Given the description of an element on the screen output the (x, y) to click on. 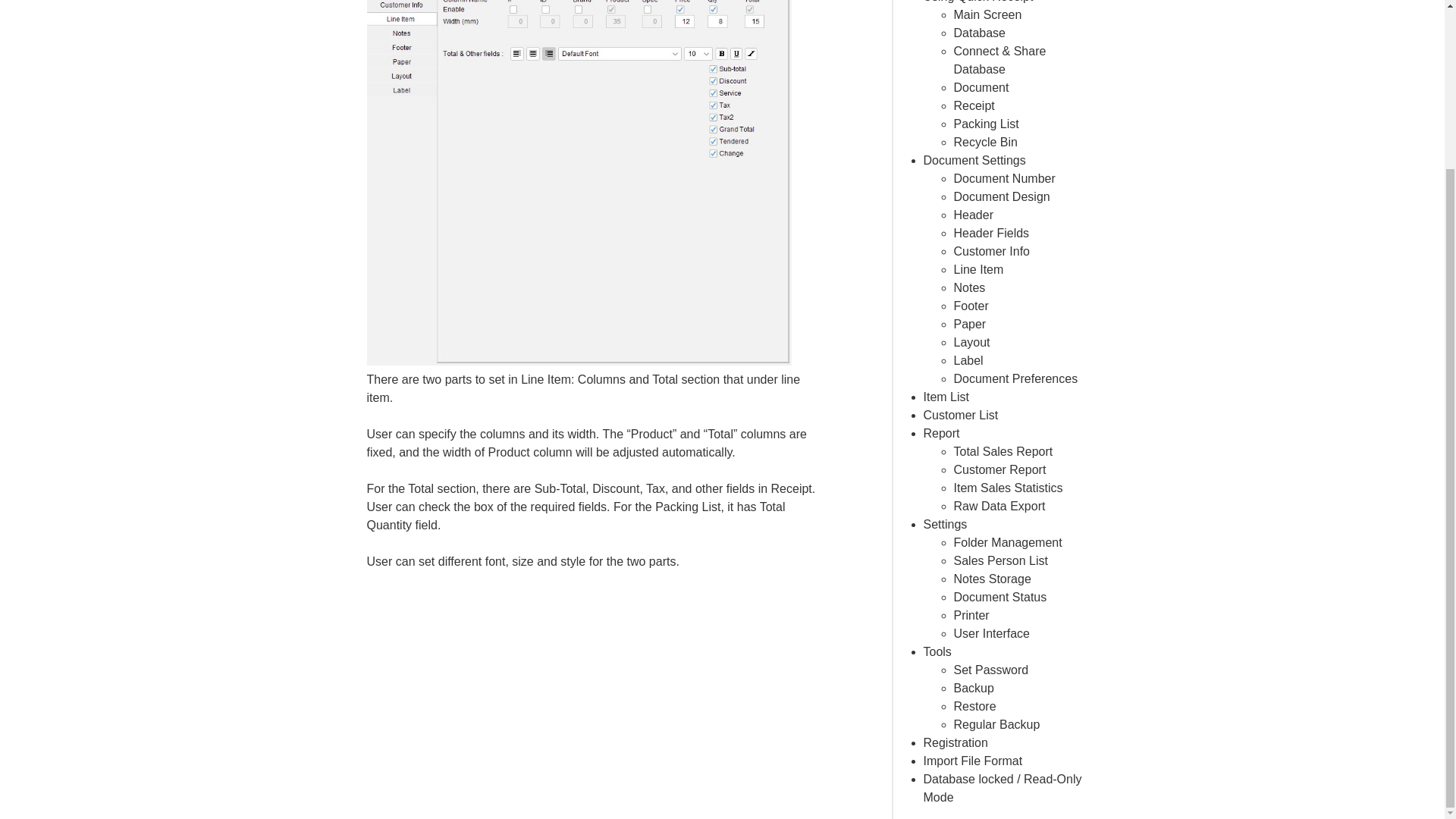
Label (968, 359)
Item List (946, 396)
Header (972, 214)
Packing List (986, 123)
Item Sales Statistics (1007, 487)
Footer (970, 305)
Document (981, 87)
Document Number (1004, 178)
Main Screen (987, 14)
Total Sales Report (1002, 451)
